Given the description of an element on the screen output the (x, y) to click on. 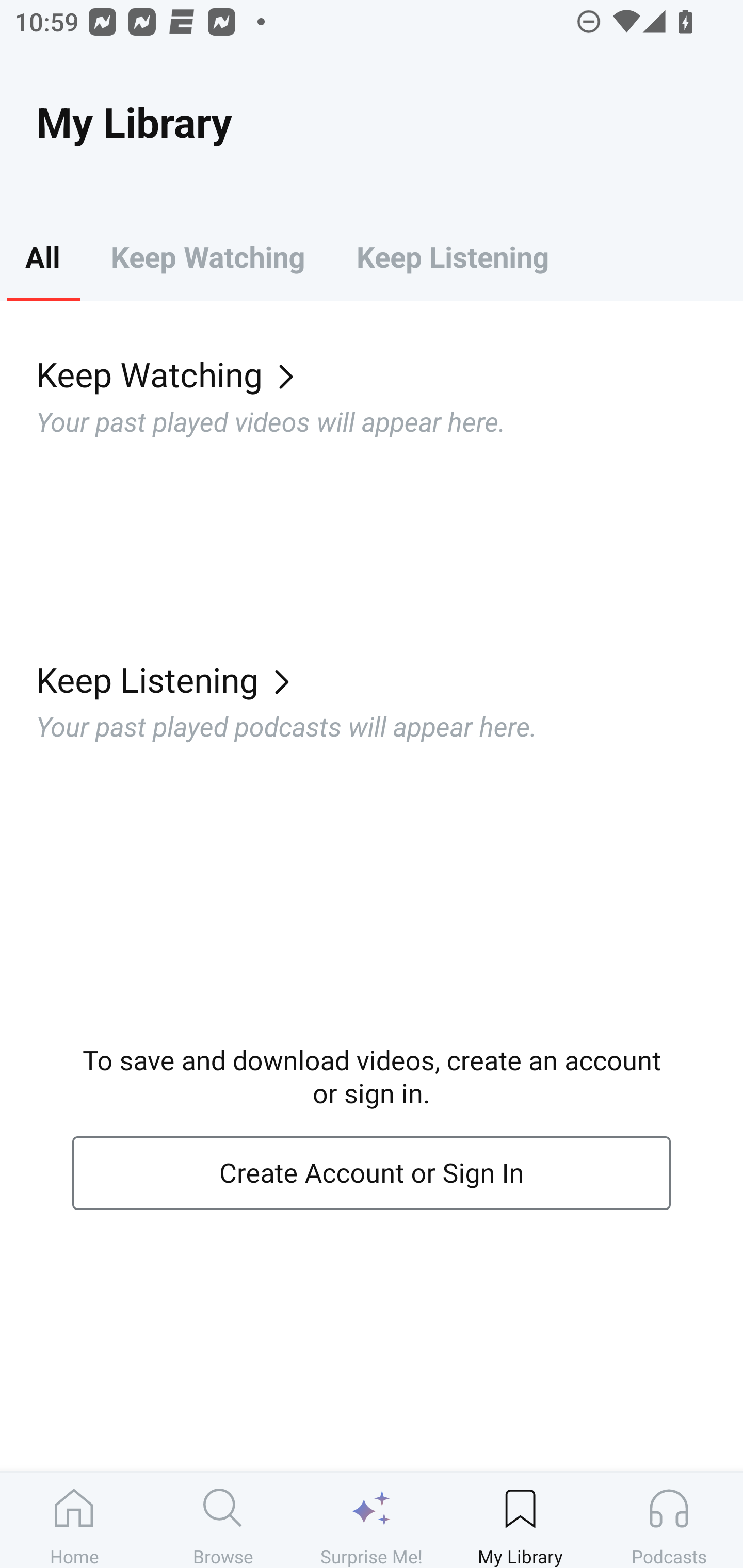
All (42, 256)
Keep Watching (207, 256)
Keep Listening (452, 256)
Keep Watching (389, 373)
Keep Listening (389, 679)
Create Account or Sign In (371, 1173)
Home (74, 1520)
Browse (222, 1520)
Surprise Me! (371, 1520)
My Library (519, 1520)
Podcasts (668, 1520)
